Given the description of an element on the screen output the (x, y) to click on. 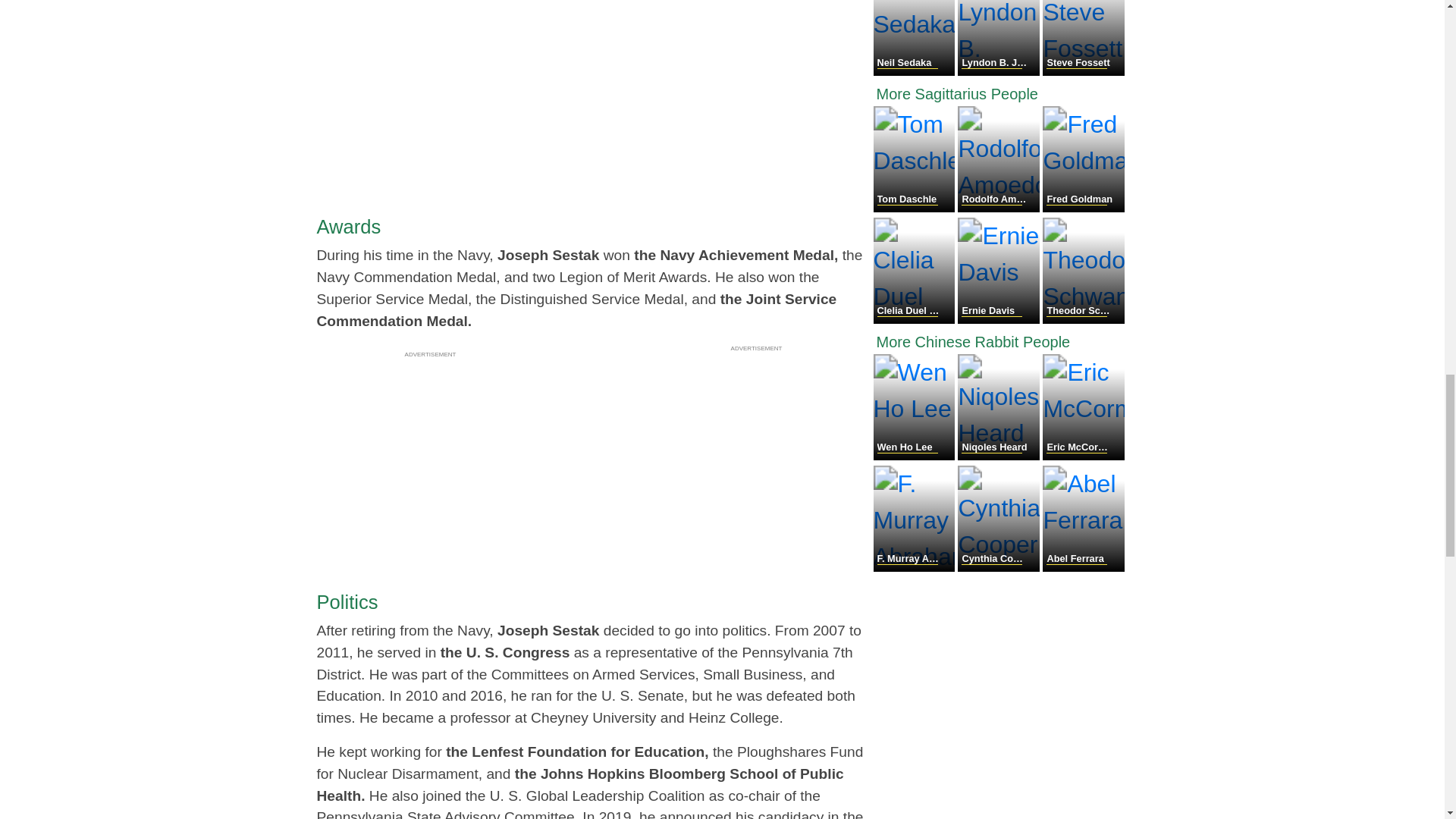
Neil Sedaka (915, 71)
Tom Daschle (915, 207)
Steve Fossett (1083, 71)
Rodolfo Amoedo (1000, 207)
Lyndon B. Johnson (1000, 71)
Fred Goldman (1083, 207)
